Given the description of an element on the screen output the (x, y) to click on. 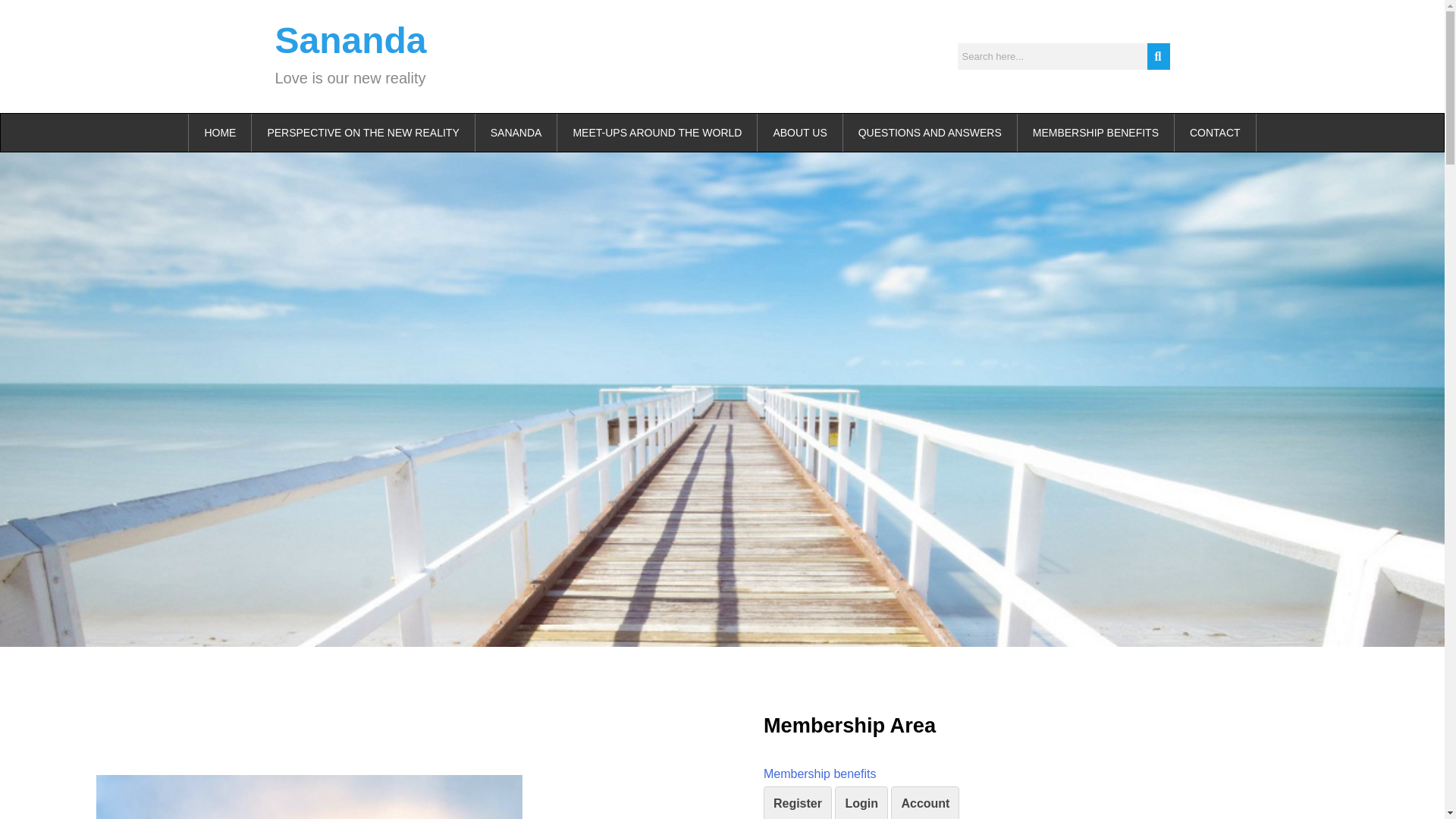
MEMBERSHIP BENEFITS (1095, 132)
CONTACT (1215, 132)
PERSPECTIVE ON THE NEW REALITY (362, 132)
Register (796, 802)
MEET-UPS AROUND THE WORLD (657, 132)
Sananda (350, 40)
QUESTIONS AND ANSWERS (930, 132)
ABOUT US (800, 132)
HOME (219, 132)
SANANDA (516, 132)
